Given the description of an element on the screen output the (x, y) to click on. 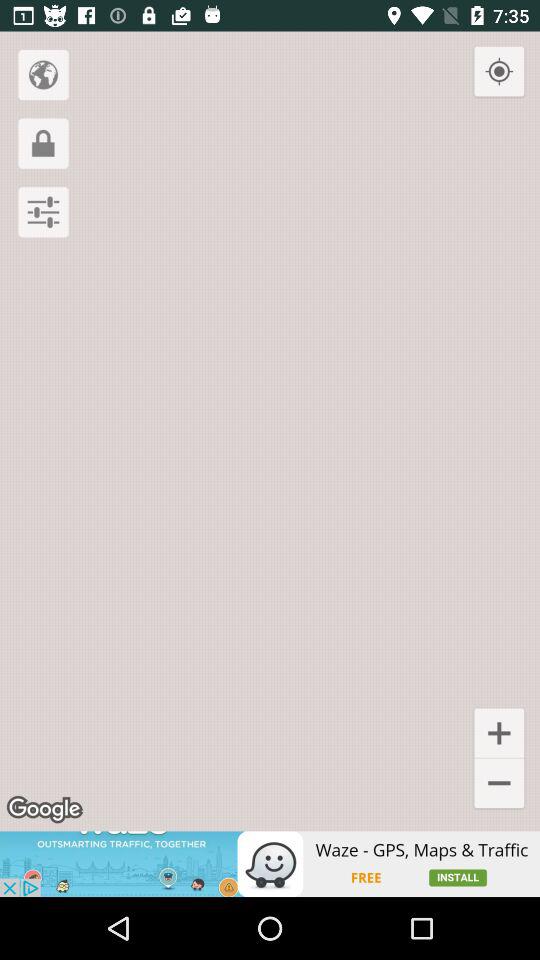
install app (270, 864)
